Given the description of an element on the screen output the (x, y) to click on. 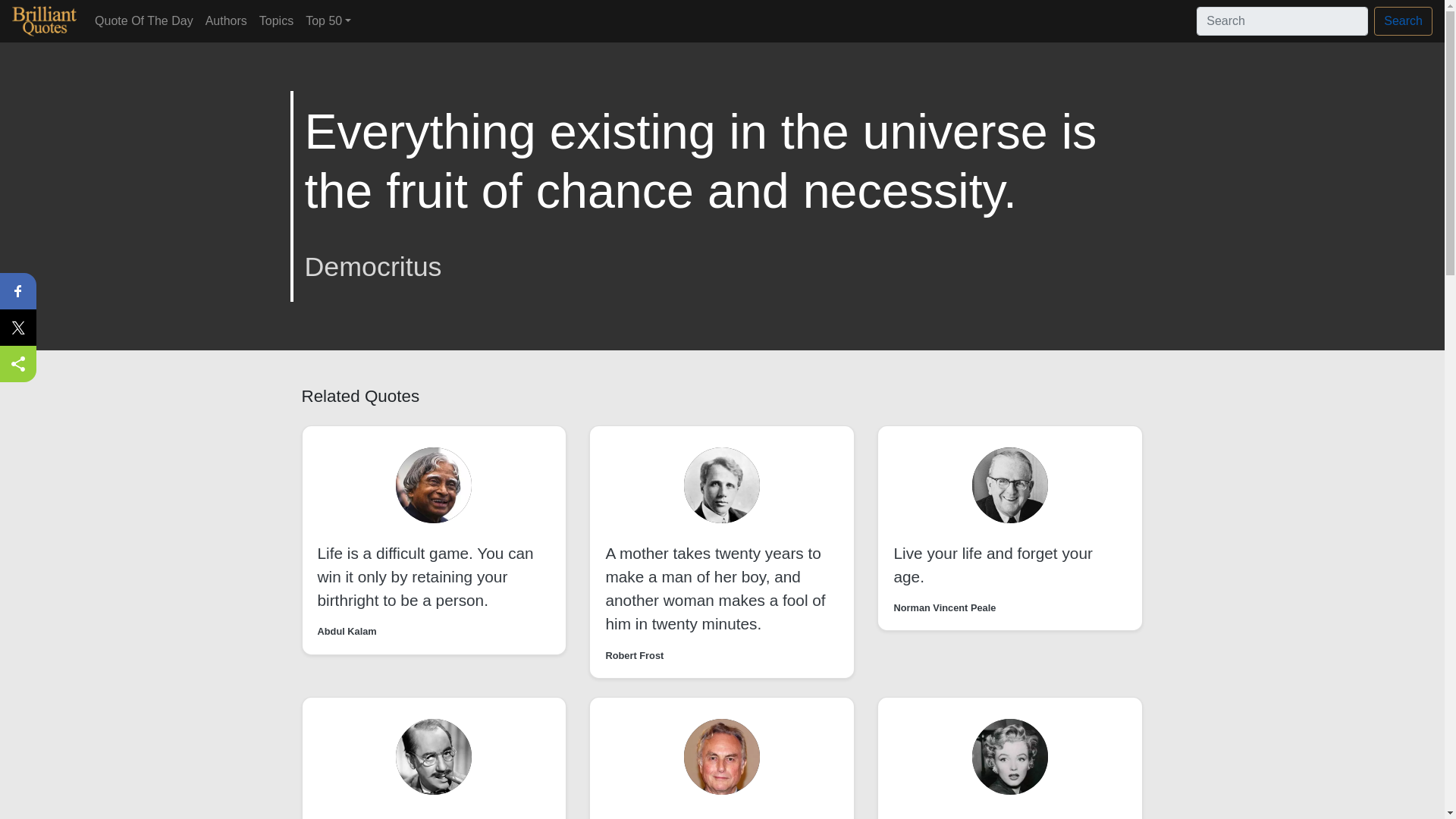
Abdul Kalam (346, 631)
Top 50 (327, 20)
Authors (226, 20)
Topics (276, 20)
Quote Of The Day (143, 20)
Live your life and forget your age. (992, 564)
Search (1403, 21)
